Given the description of an element on the screen output the (x, y) to click on. 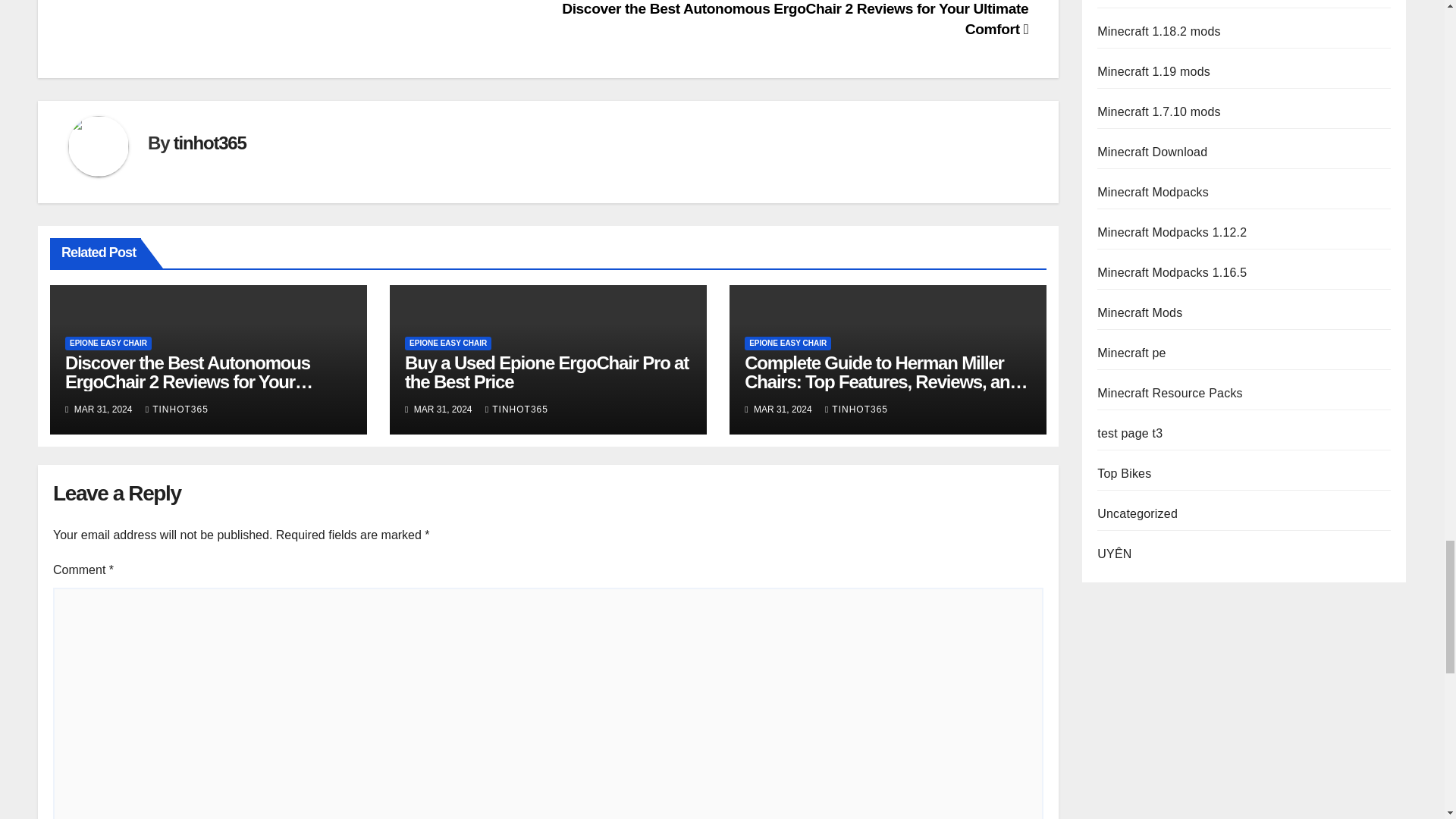
TINHOT365 (176, 409)
Buy a Used Epione ErgoChair Pro at the Best Price (546, 372)
TINHOT365 (856, 409)
EPIONE EASY CHAIR (448, 343)
